Given the description of an element on the screen output the (x, y) to click on. 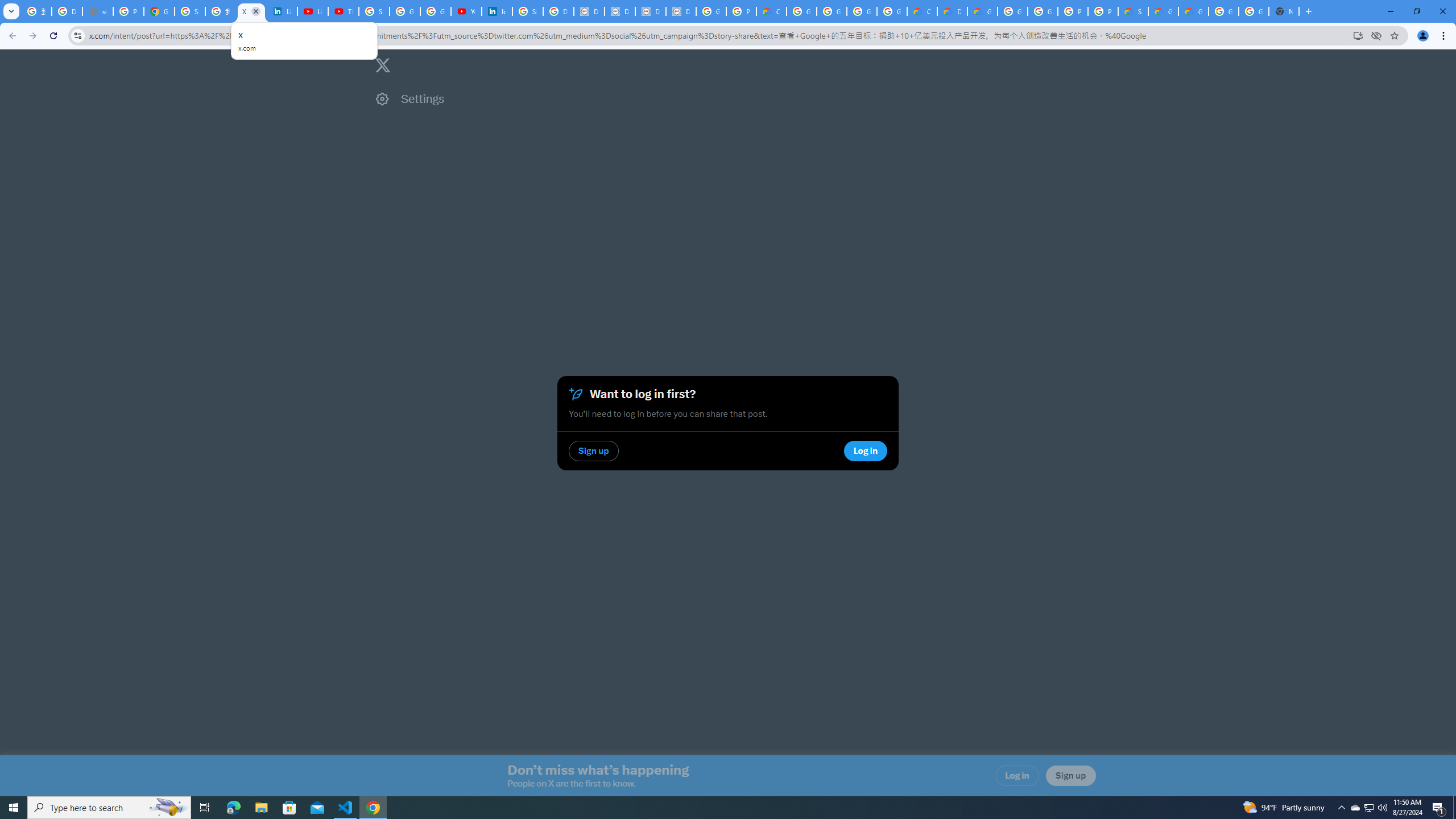
support.google.com - Network error (97, 11)
Google Cloud Platform (1012, 11)
Data Privacy Framework (589, 11)
Privacy Help Center - Policies Help (127, 11)
Google Cloud Service Health (1162, 11)
LinkedIn - YouTube (312, 11)
